Given the description of an element on the screen output the (x, y) to click on. 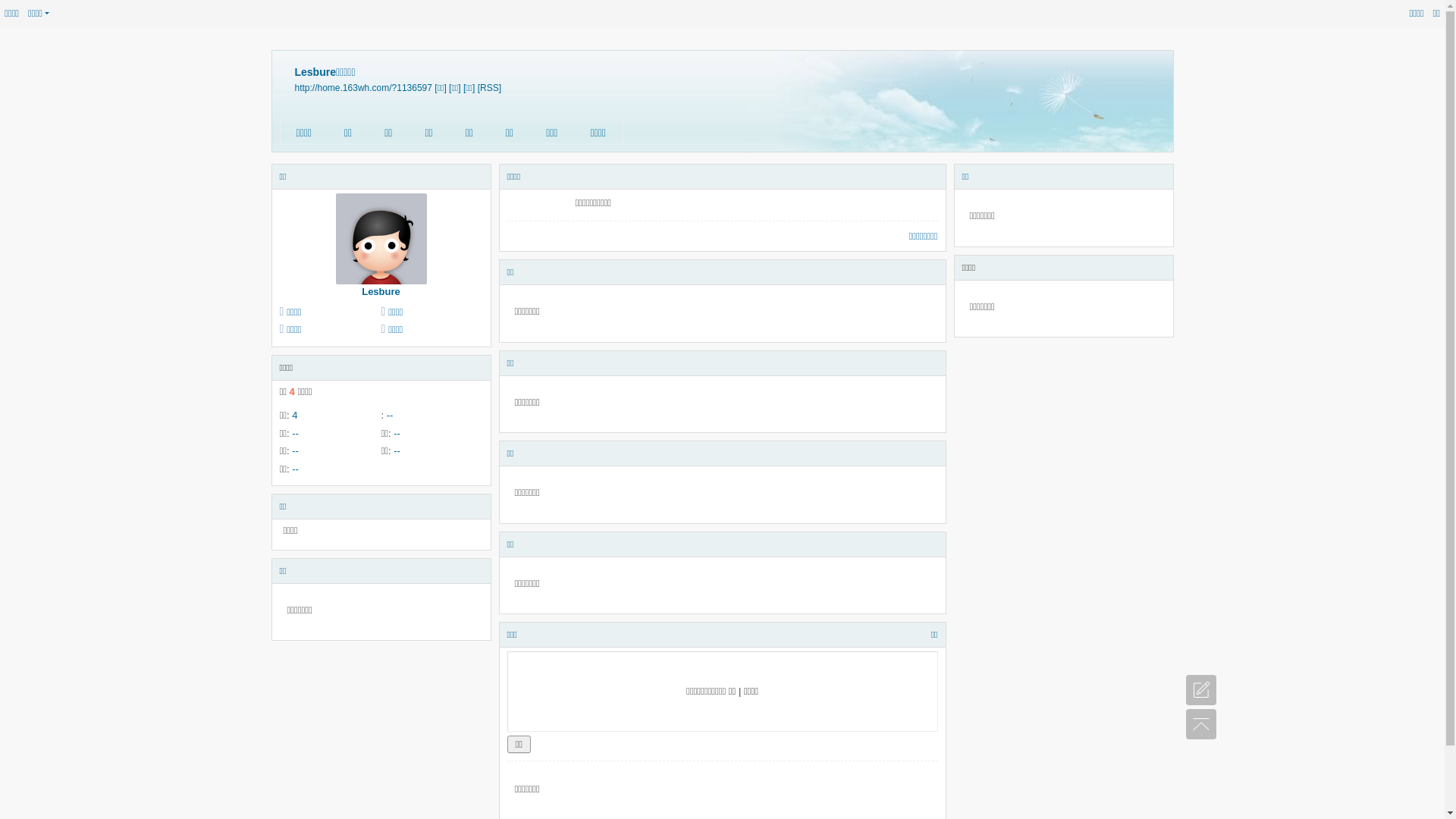
-- Element type: text (294, 450)
[RSS] Element type: text (489, 87)
-- Element type: text (396, 450)
-- Element type: text (294, 467)
-- Element type: text (294, 433)
Lesbure Element type: text (380, 291)
http://home.163wh.com/?1136597 Element type: text (362, 87)
4 Element type: text (294, 414)
-- Element type: text (389, 414)
-- Element type: text (396, 433)
